Given the description of an element on the screen output the (x, y) to click on. 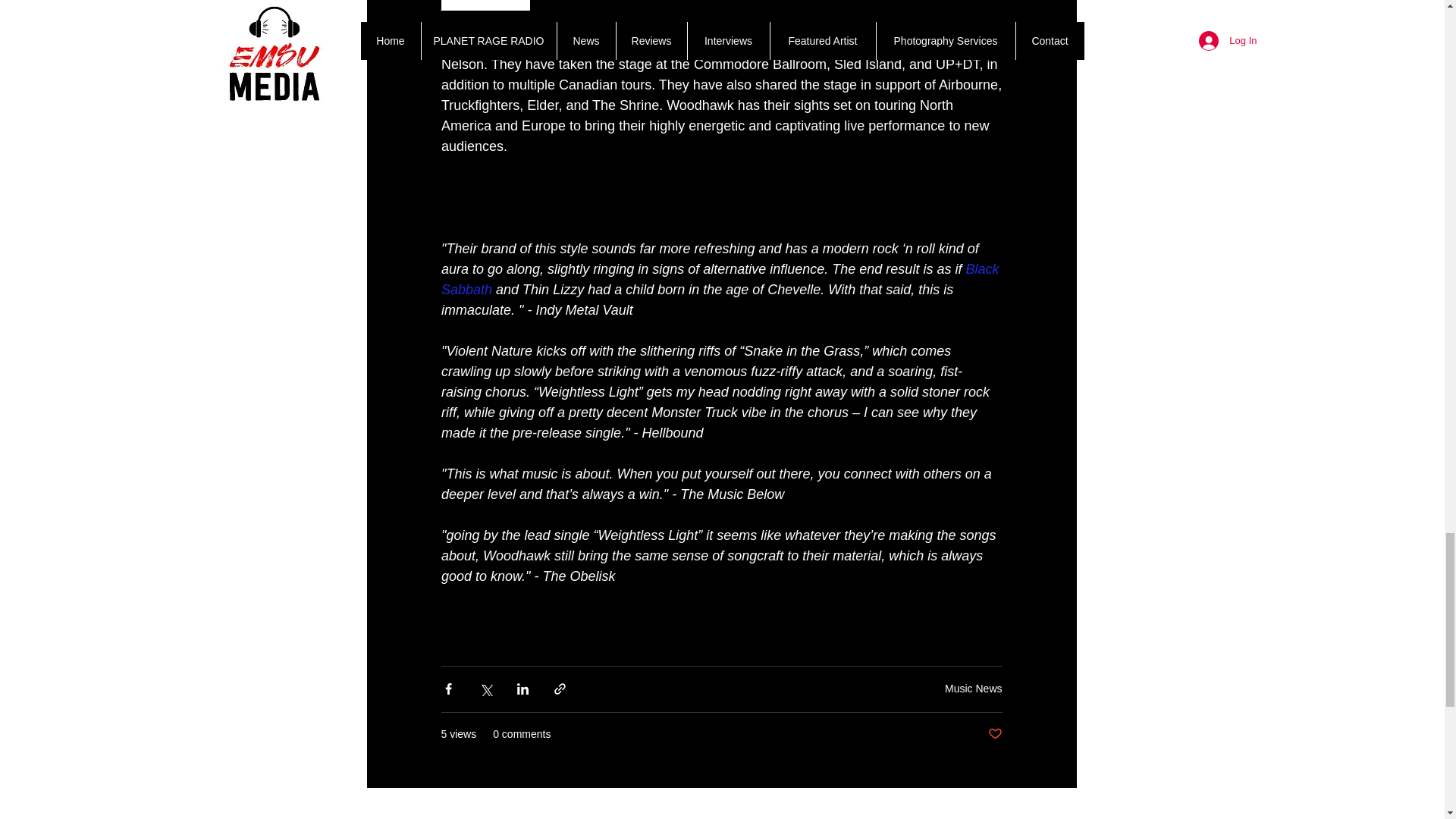
Post not marked as liked (994, 734)
See All (1060, 812)
Music News (972, 688)
Black Sabbath (722, 279)
